Given the description of an element on the screen output the (x, y) to click on. 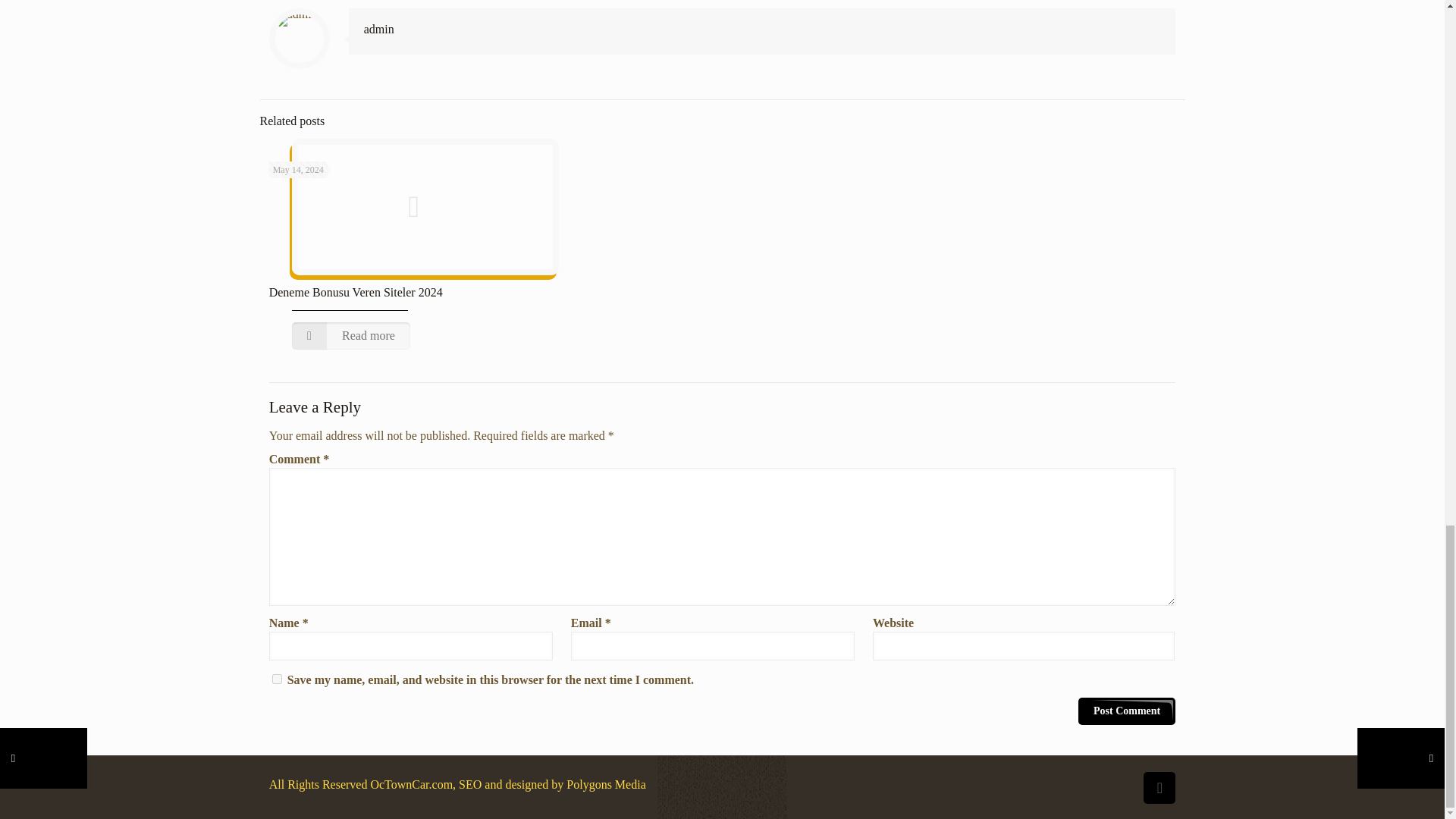
admin (379, 29)
Post Comment (1126, 710)
Read more (351, 335)
yes (277, 678)
SEO and designed by Polygons Media (550, 784)
Post Comment (1126, 710)
Deneme Bonusu Veren Siteler 2024 (355, 291)
